Given the description of an element on the screen output the (x, y) to click on. 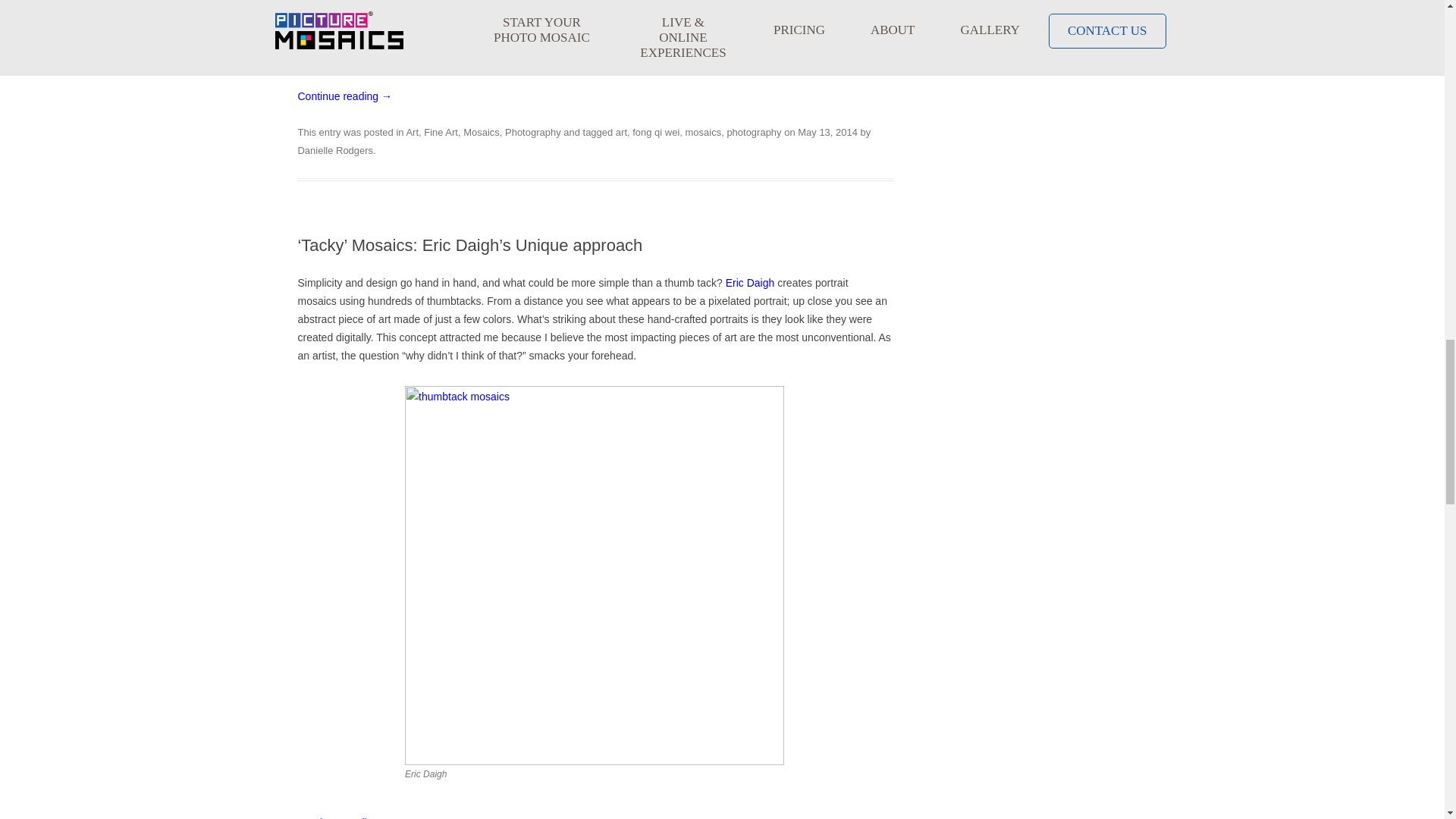
4:20 PM (827, 132)
Eric Daugh's thumbtack art (594, 761)
View all posts by Danielle Rodgers (334, 150)
Eric Daigh: Official Site (749, 282)
